Given the description of an element on the screen output the (x, y) to click on. 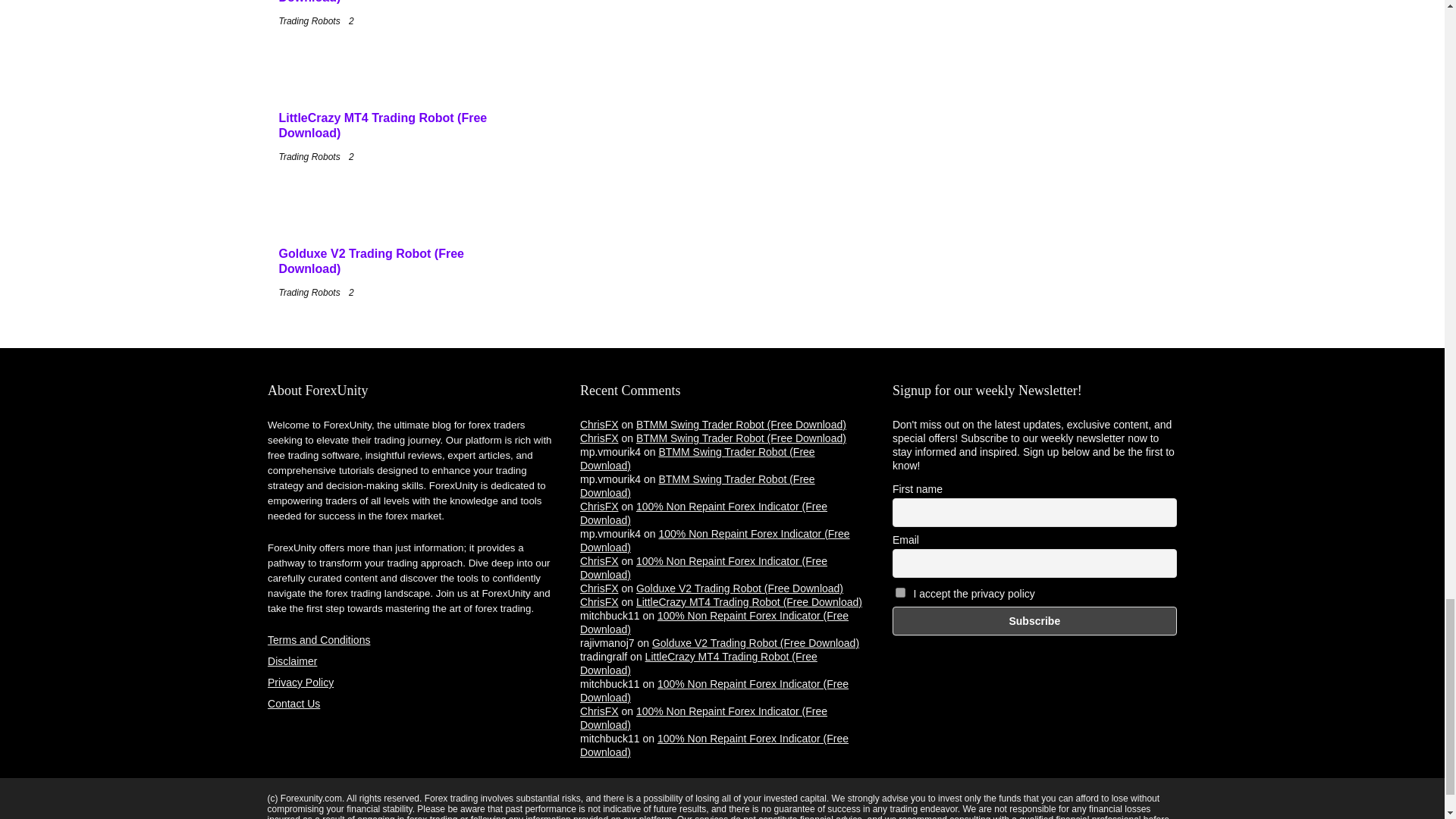
Subscribe (1034, 620)
on (900, 592)
